Given the description of an element on the screen output the (x, y) to click on. 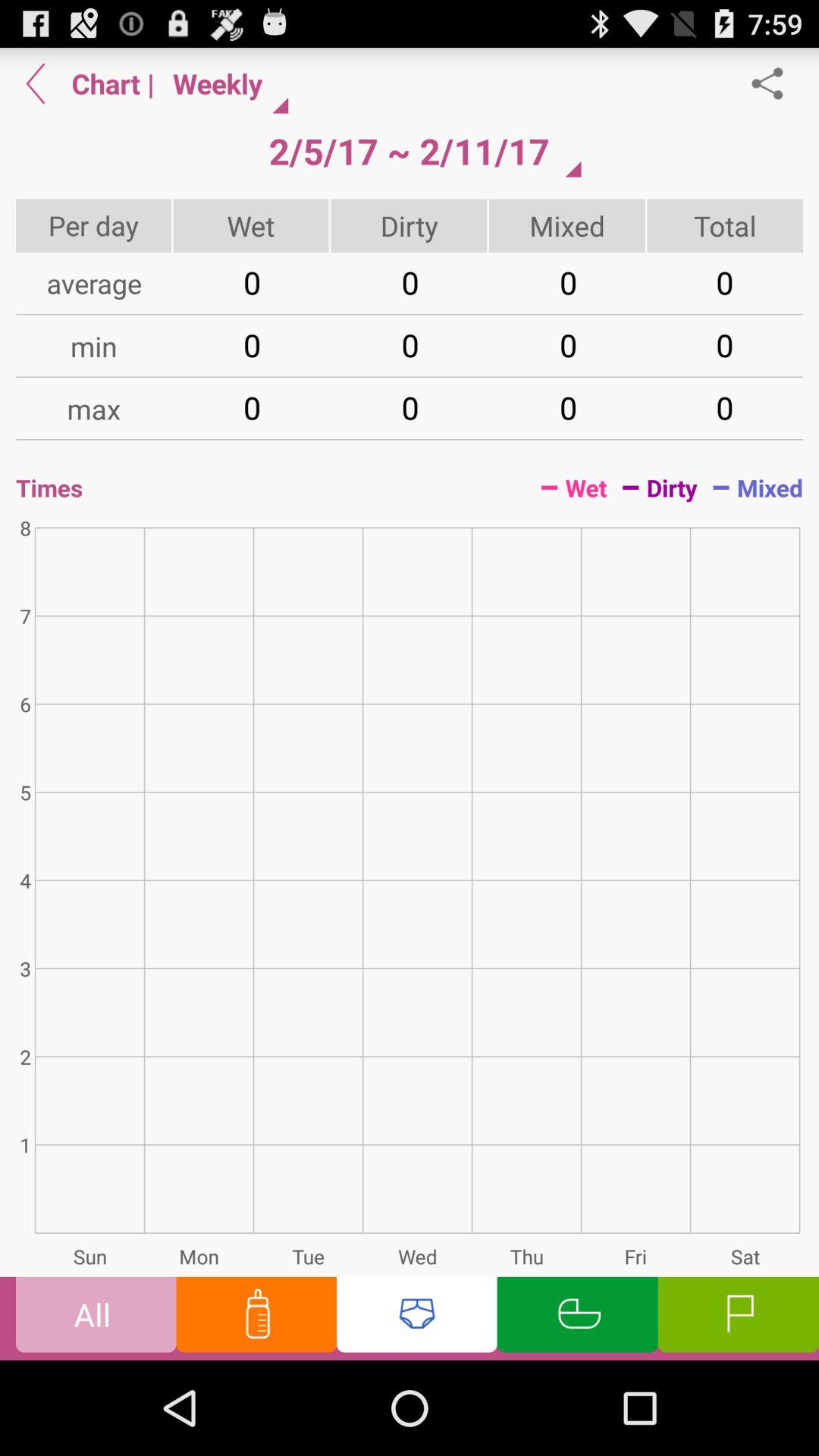
click share option (775, 83)
